Given the description of an element on the screen output the (x, y) to click on. 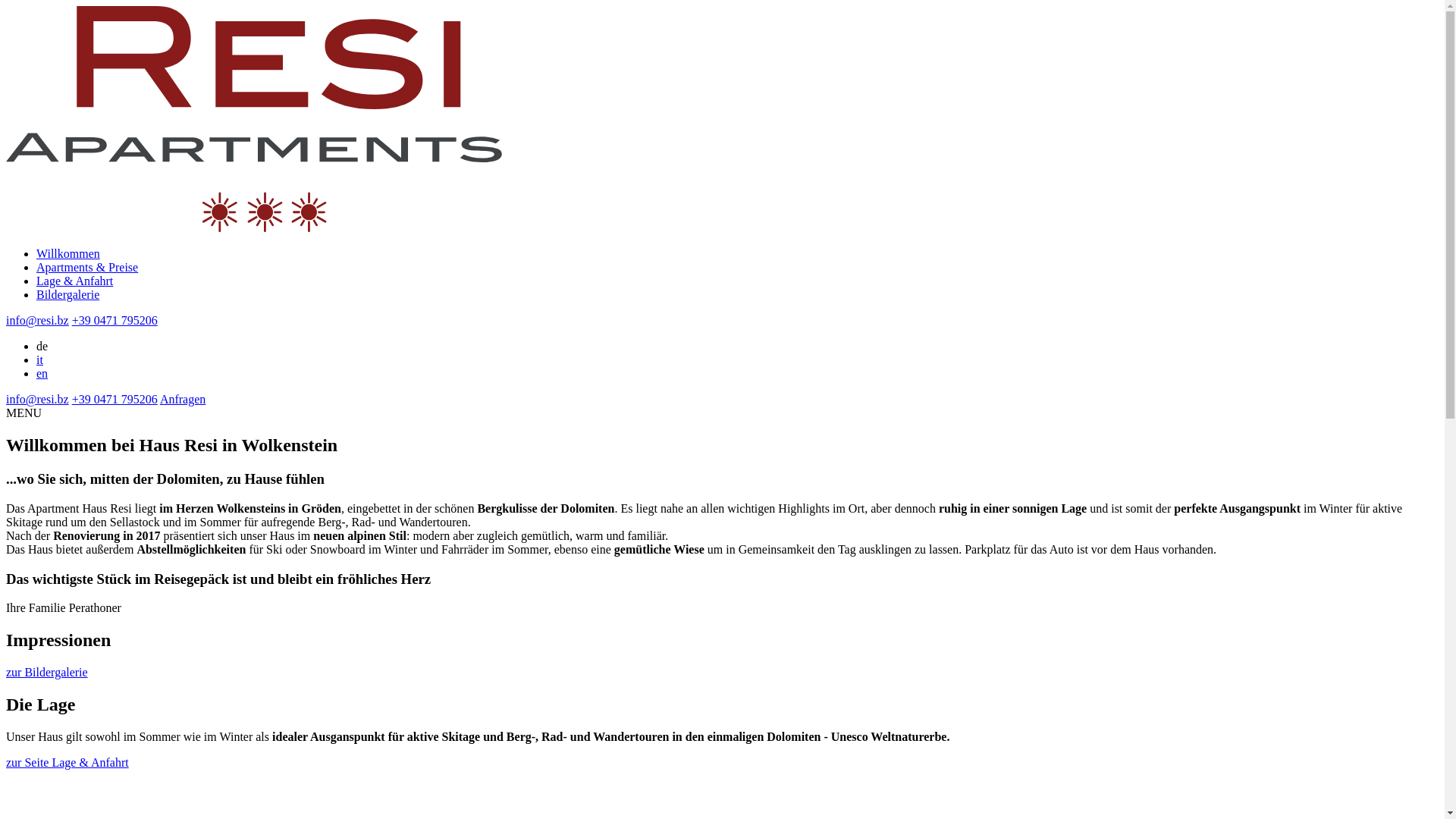
+39 0471 795206 Element type: text (114, 398)
zur Bildergalerie Element type: text (46, 671)
Bildergalerie Element type: text (67, 294)
info@resi.bz Element type: text (37, 319)
Resi Apartments Element type: hover (254, 119)
it Element type: text (39, 359)
en Element type: text (41, 373)
zur Seite Lage & Anfahrt Element type: text (67, 762)
info@resi.bz Element type: text (37, 398)
Willkommen Element type: text (68, 253)
Apartments & Preise Element type: text (87, 266)
+39 0471 795206 Element type: text (114, 319)
Lage & Anfahrt Element type: text (74, 280)
Anfragen Element type: text (182, 398)
